Given the description of an element on the screen output the (x, y) to click on. 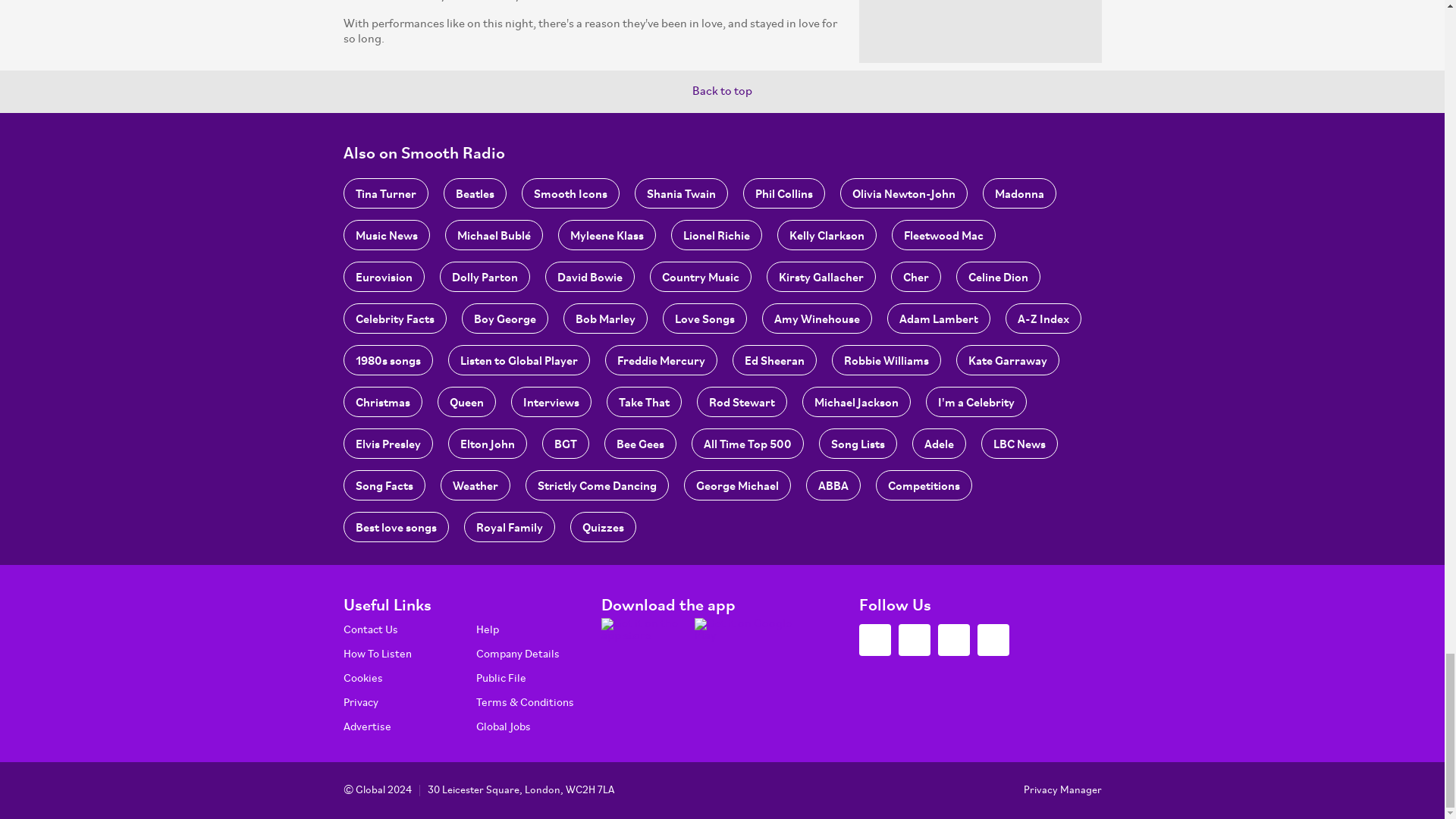
Follow Smooth on Instagram (953, 640)
Follow Smooth on Facebook (914, 640)
Back to top (722, 91)
Follow Smooth on X (874, 640)
Follow Smooth on Youtube (992, 640)
